Given the description of an element on the screen output the (x, y) to click on. 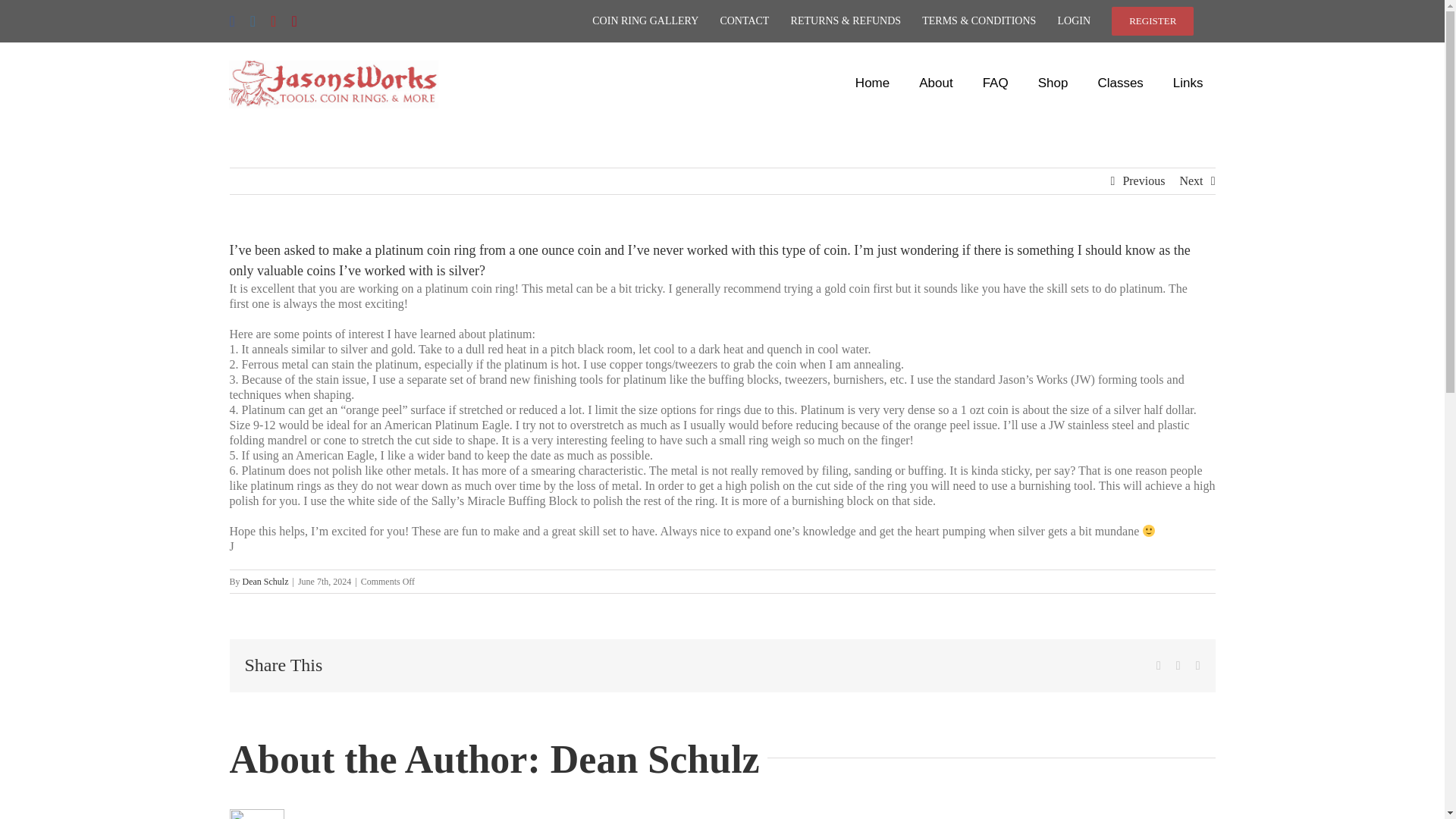
Shop (1053, 83)
Posts by Dean Schulz (265, 581)
REGISTER (1152, 21)
Home (872, 83)
FAQ (995, 83)
Posts by Dean Schulz (655, 759)
Classes (1119, 83)
CONTACT (743, 21)
COIN RING GALLERY (645, 21)
Links (1187, 83)
About (935, 83)
